Given the description of an element on the screen output the (x, y) to click on. 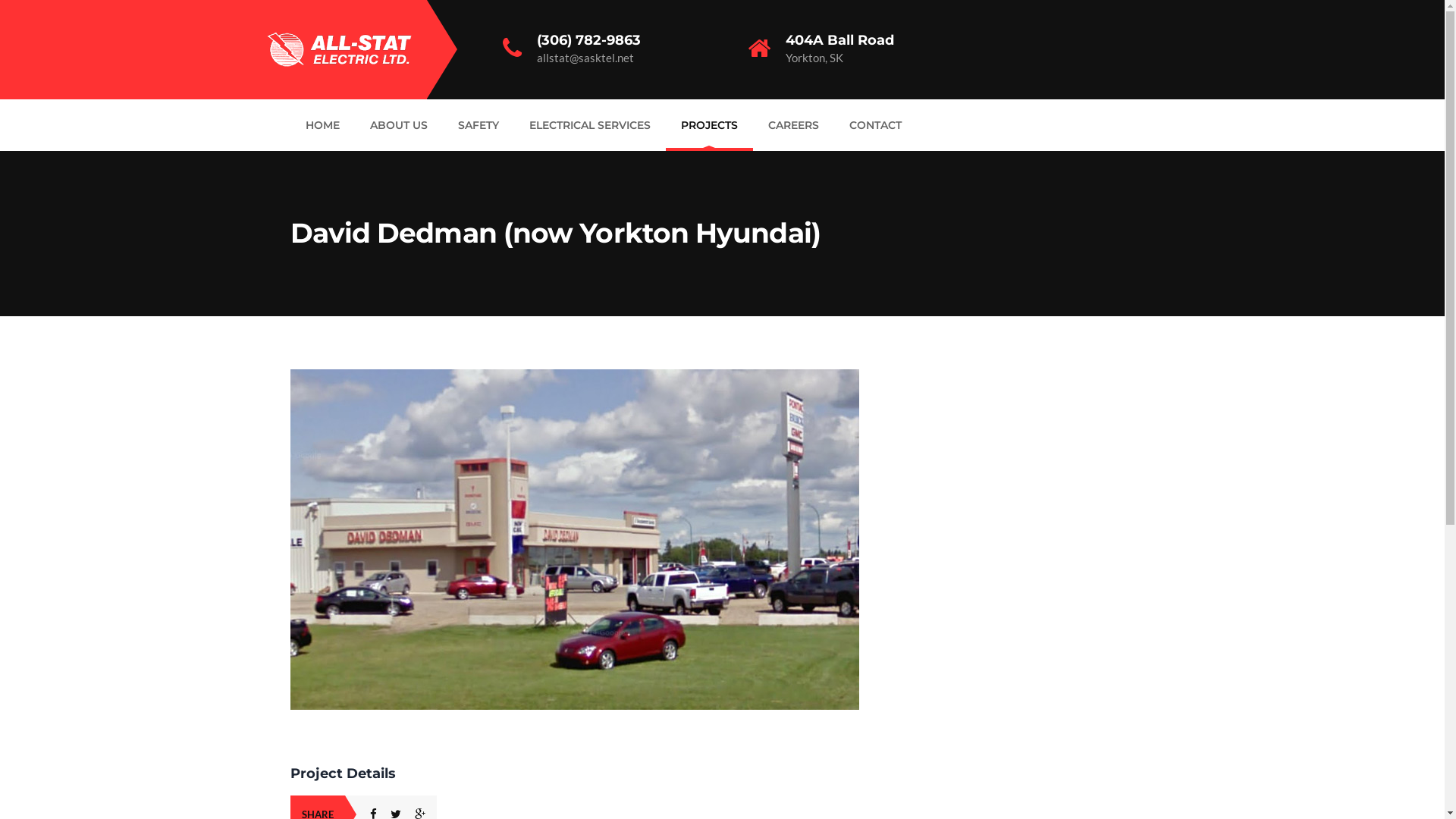
ABOUT US Element type: text (398, 124)
HOME Element type: text (321, 124)
PROJECTS Element type: text (708, 124)
ELECTRICAL SERVICES Element type: text (589, 124)
CAREERS Element type: text (792, 124)
SAFETY Element type: text (478, 124)
CONTACT Element type: text (875, 124)
david-dedman Element type: hover (573, 378)
